Given the description of an element on the screen output the (x, y) to click on. 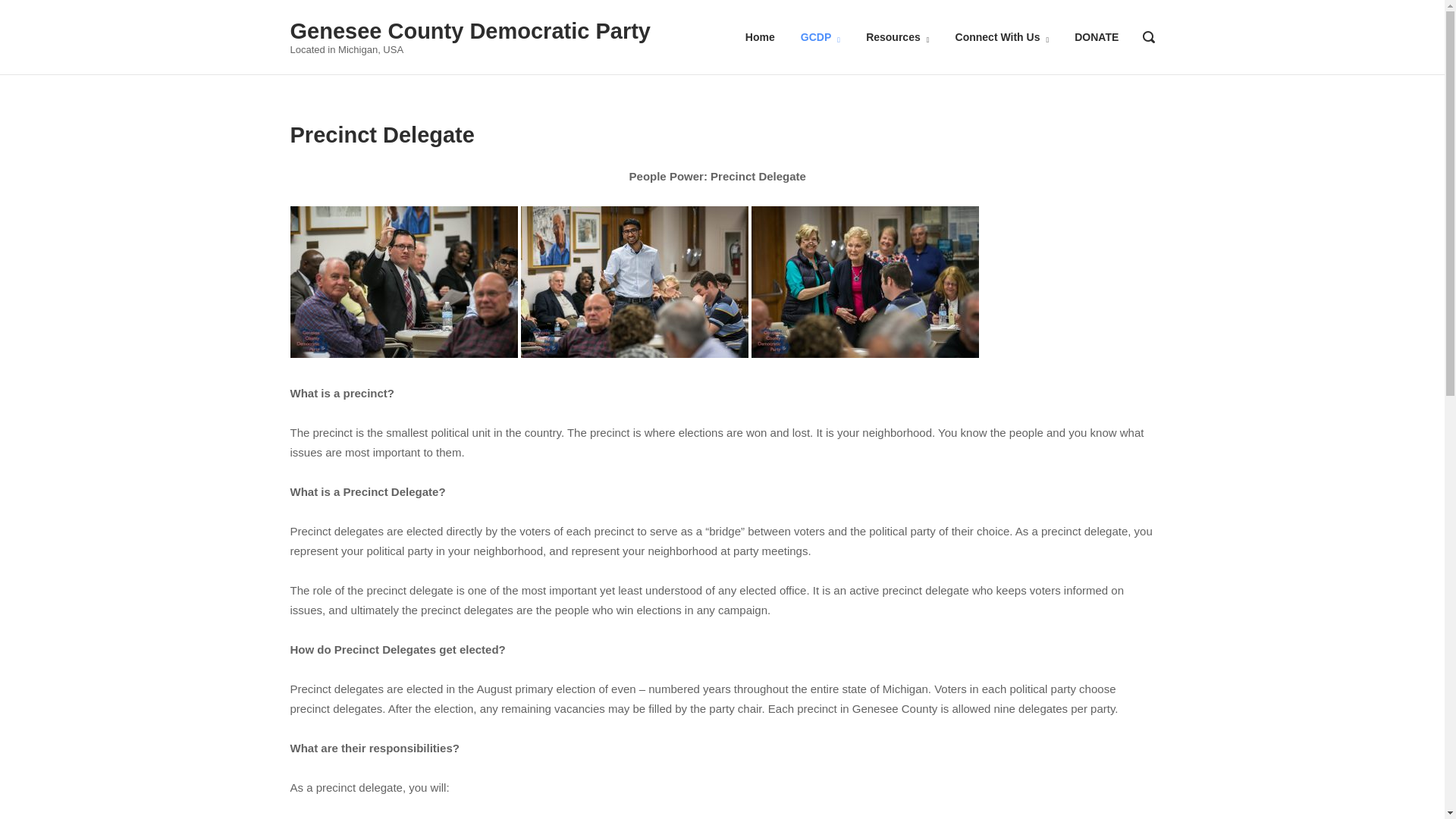
Resources (897, 37)
Home (759, 37)
DONATE (1096, 37)
GCDP (820, 37)
Connect With Us (1002, 37)
Genesee County Democratic Party (469, 30)
